Given the description of an element on the screen output the (x, y) to click on. 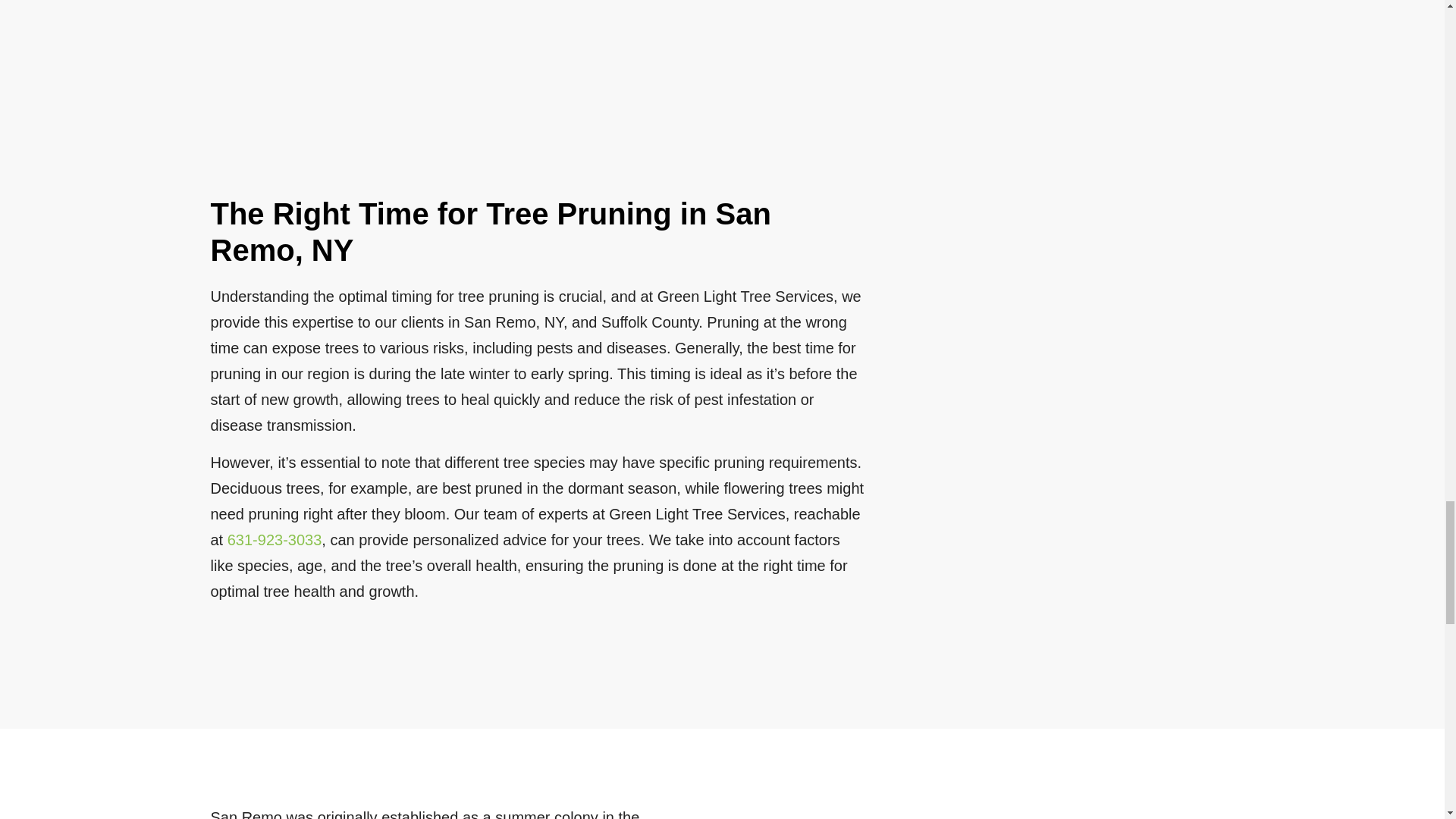
631-923-3033 (274, 539)
